Given the description of an element on the screen output the (x, y) to click on. 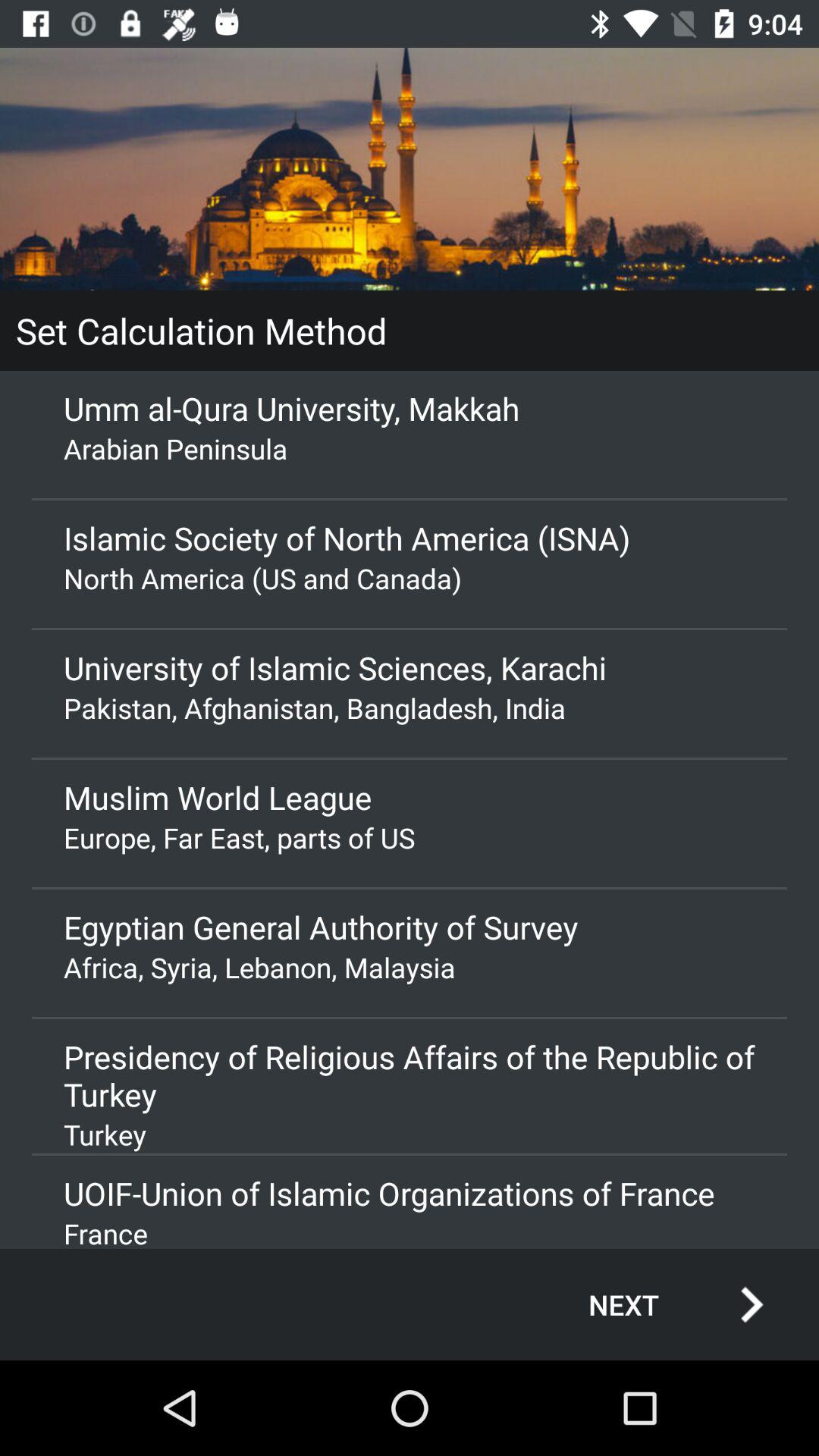
swipe until africa syria lebanon app (409, 967)
